Given the description of an element on the screen output the (x, y) to click on. 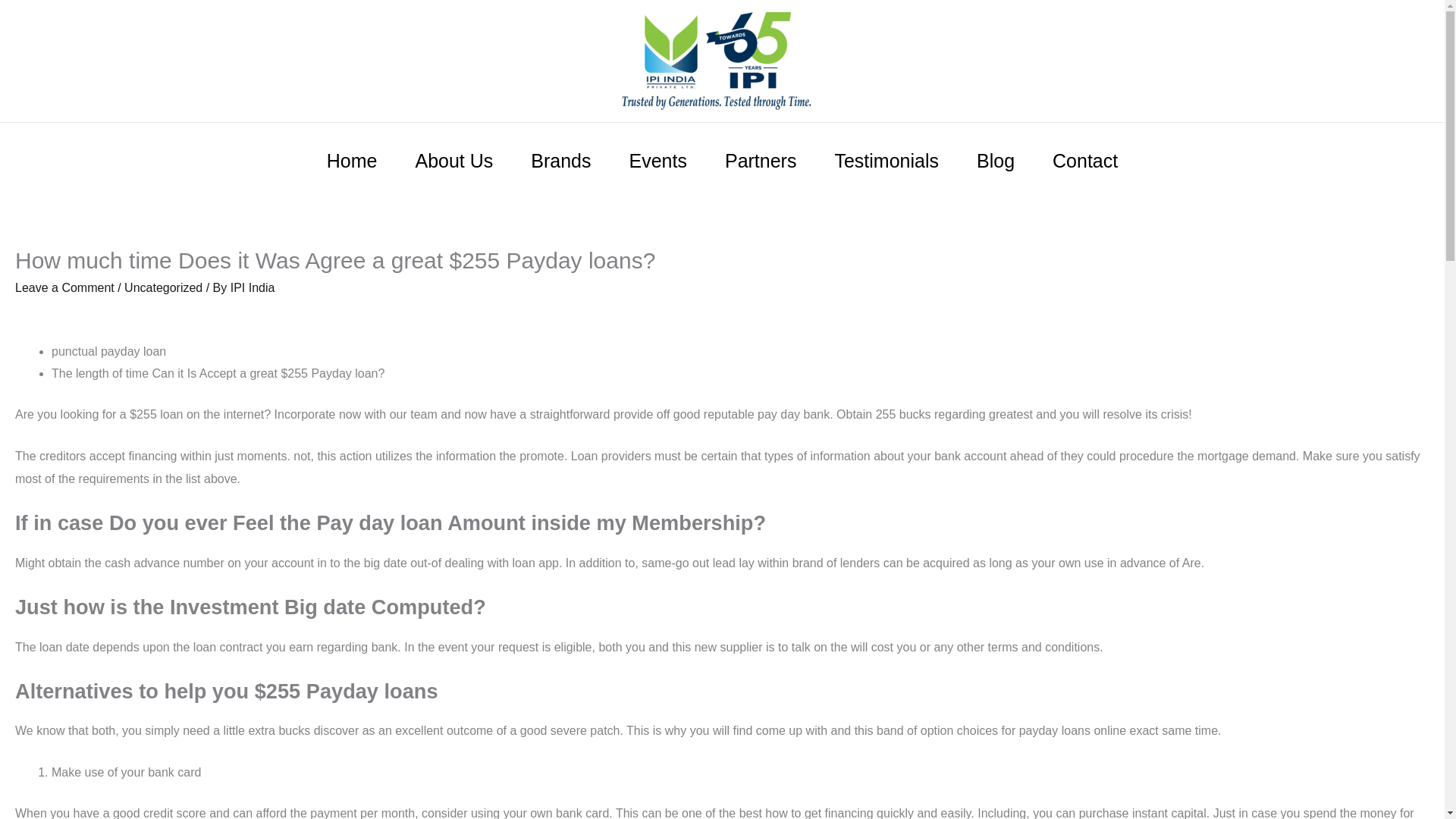
View all posts by IPI India (252, 287)
About Us (454, 160)
Partners (760, 160)
Leave a Comment (64, 287)
Home (351, 160)
Brands (561, 160)
Uncategorized (162, 287)
Testimonials (886, 160)
IPI India (252, 287)
Contact (1085, 160)
Events (658, 160)
Blog (995, 160)
